Given the description of an element on the screen output the (x, y) to click on. 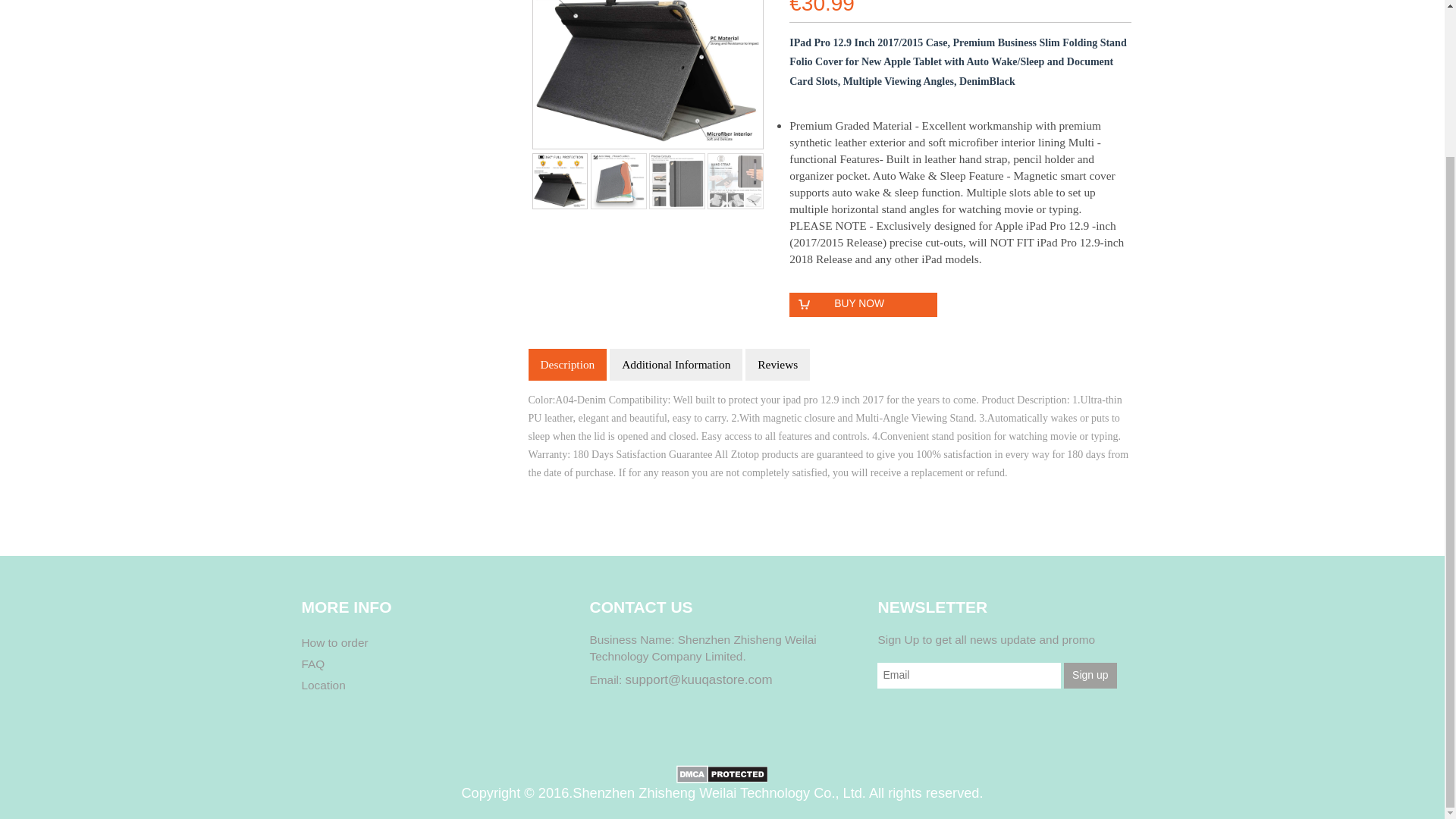
Reviews (777, 364)
Additional Information (676, 364)
Sign up (1090, 675)
BUY NOW (863, 304)
DMCA.com Protection Status (722, 772)
Description (567, 364)
